Given the description of an element on the screen output the (x, y) to click on. 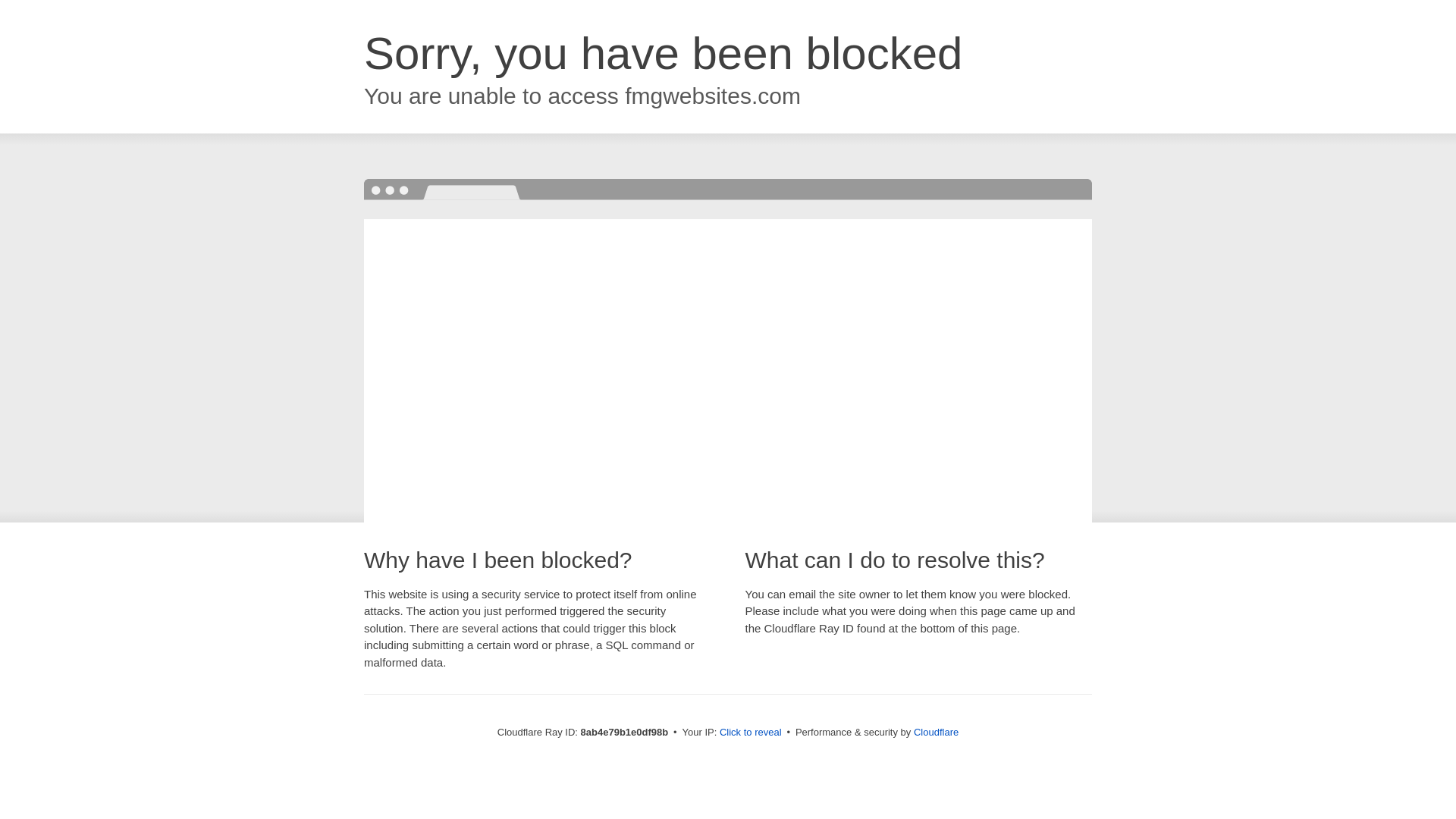
Cloudflare (936, 731)
Click to reveal (750, 732)
